Given the description of an element on the screen output the (x, y) to click on. 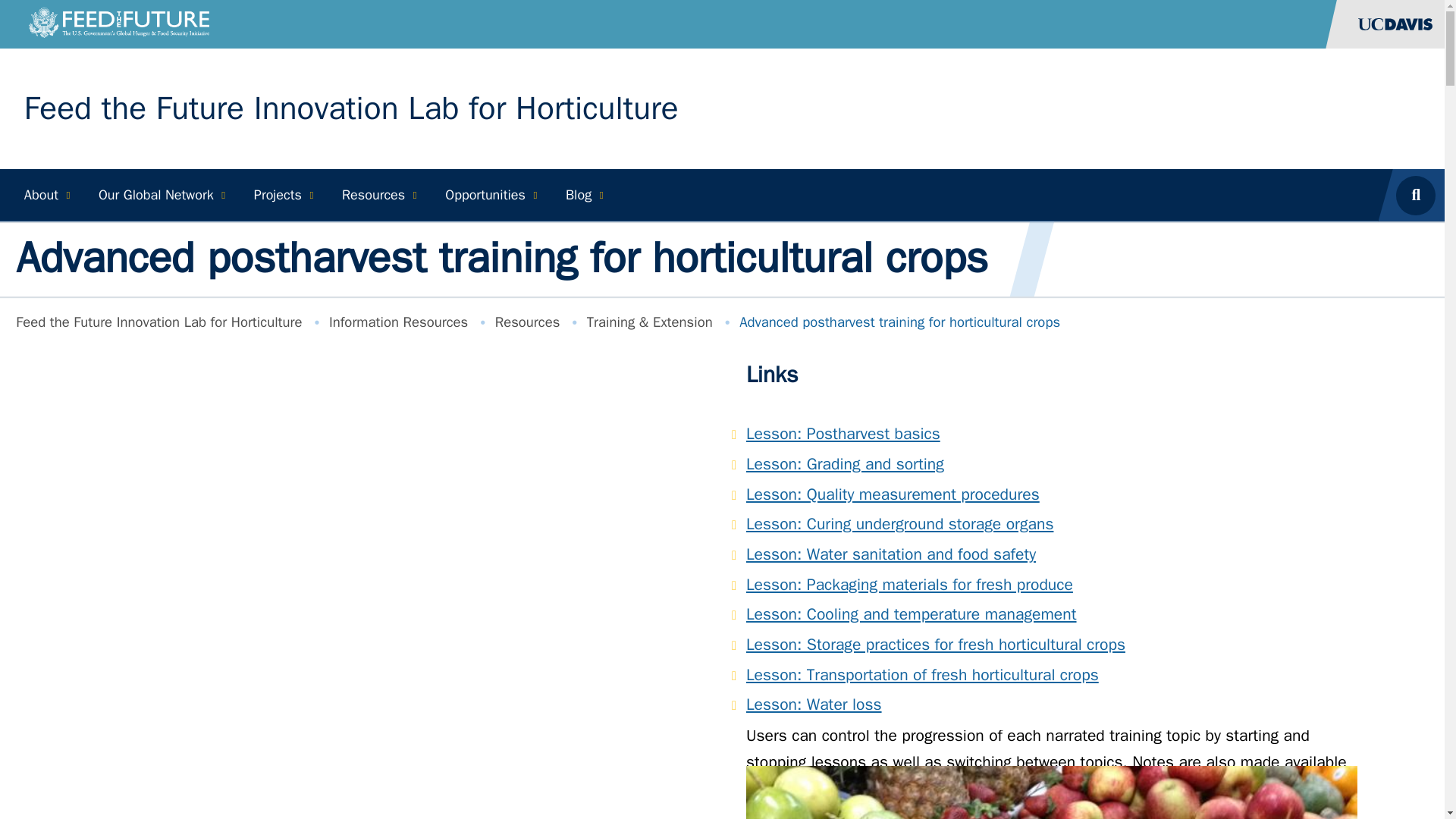
Home (351, 107)
Feed the Future Innovation Lab for Horticulture (351, 107)
Resources (376, 194)
Open Search (1419, 194)
Projects (281, 194)
Projects (281, 194)
About the Innovation Lab for Horticulture (45, 194)
About (45, 194)
Our Global Network (160, 194)
